Given the description of an element on the screen output the (x, y) to click on. 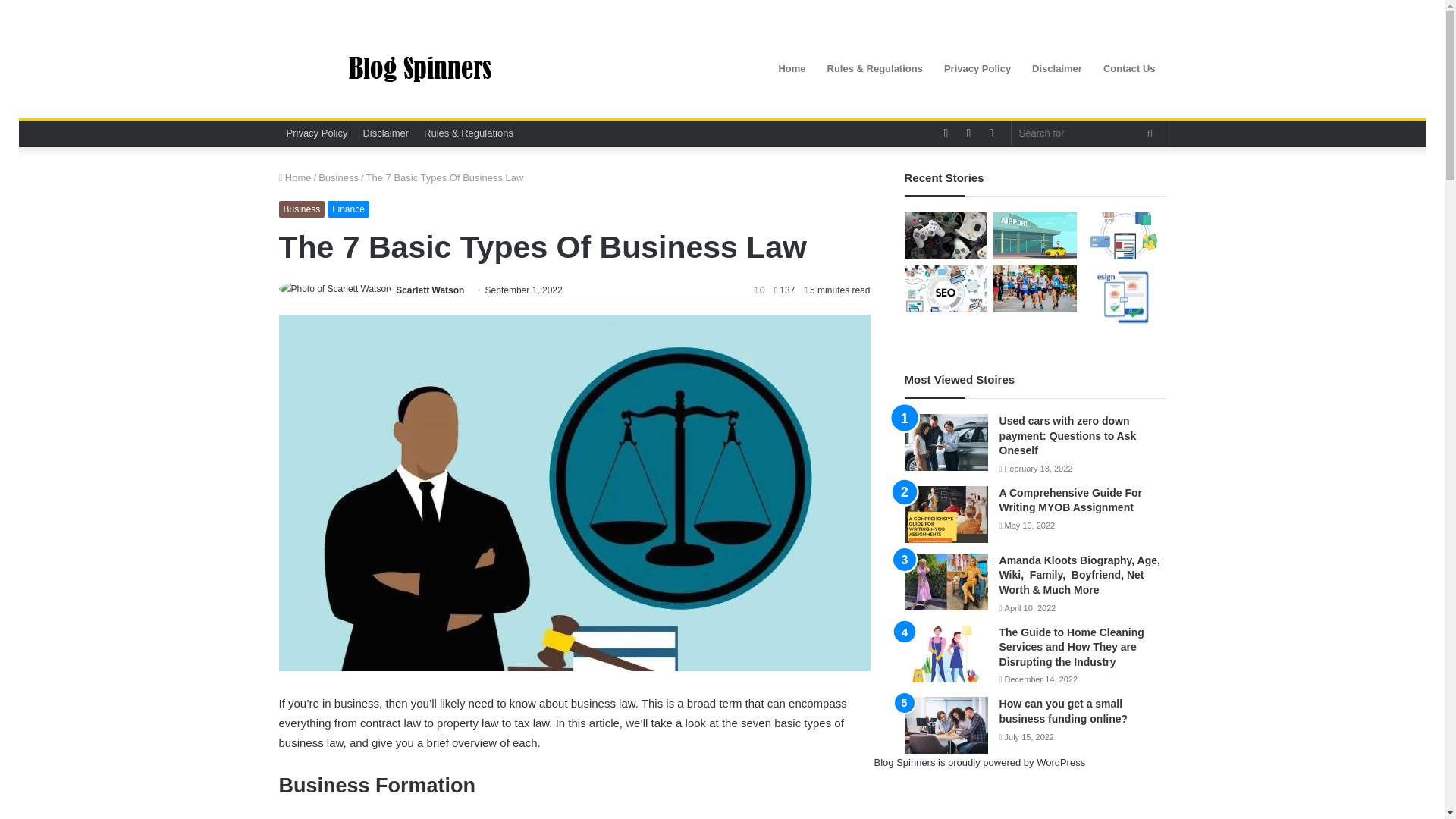
Finance (348, 208)
Disclaimer (385, 132)
Scarlett Watson (430, 290)
Privacy Policy (977, 68)
Blog Spinners (419, 69)
Business (301, 208)
Business (338, 177)
Privacy Policy (317, 132)
Search for (1150, 132)
Search for (1088, 132)
